Given the description of an element on the screen output the (x, y) to click on. 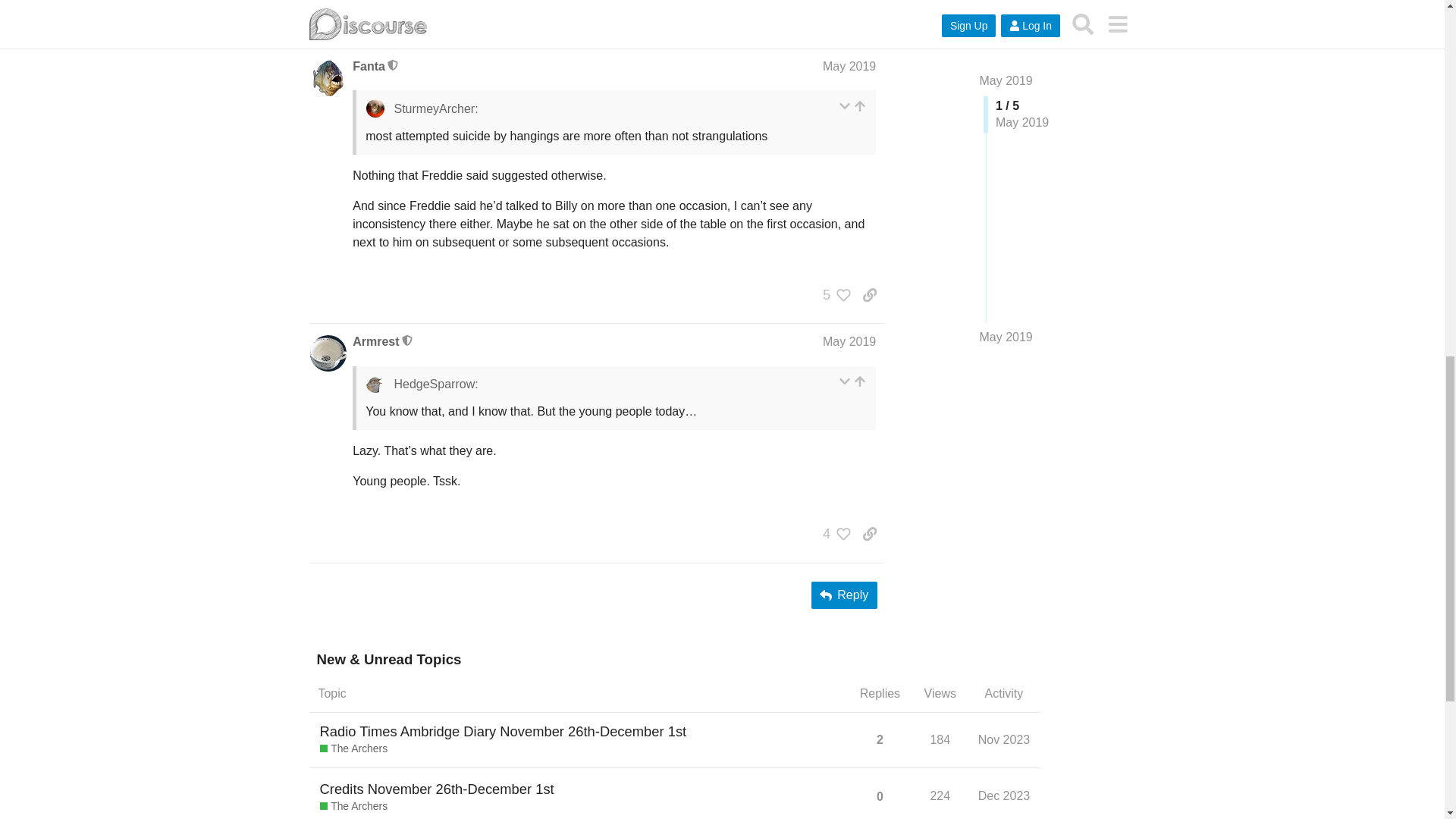
5 (832, 294)
Fanta (368, 66)
May 2019 (849, 65)
4 (832, 19)
